Given the description of an element on the screen output the (x, y) to click on. 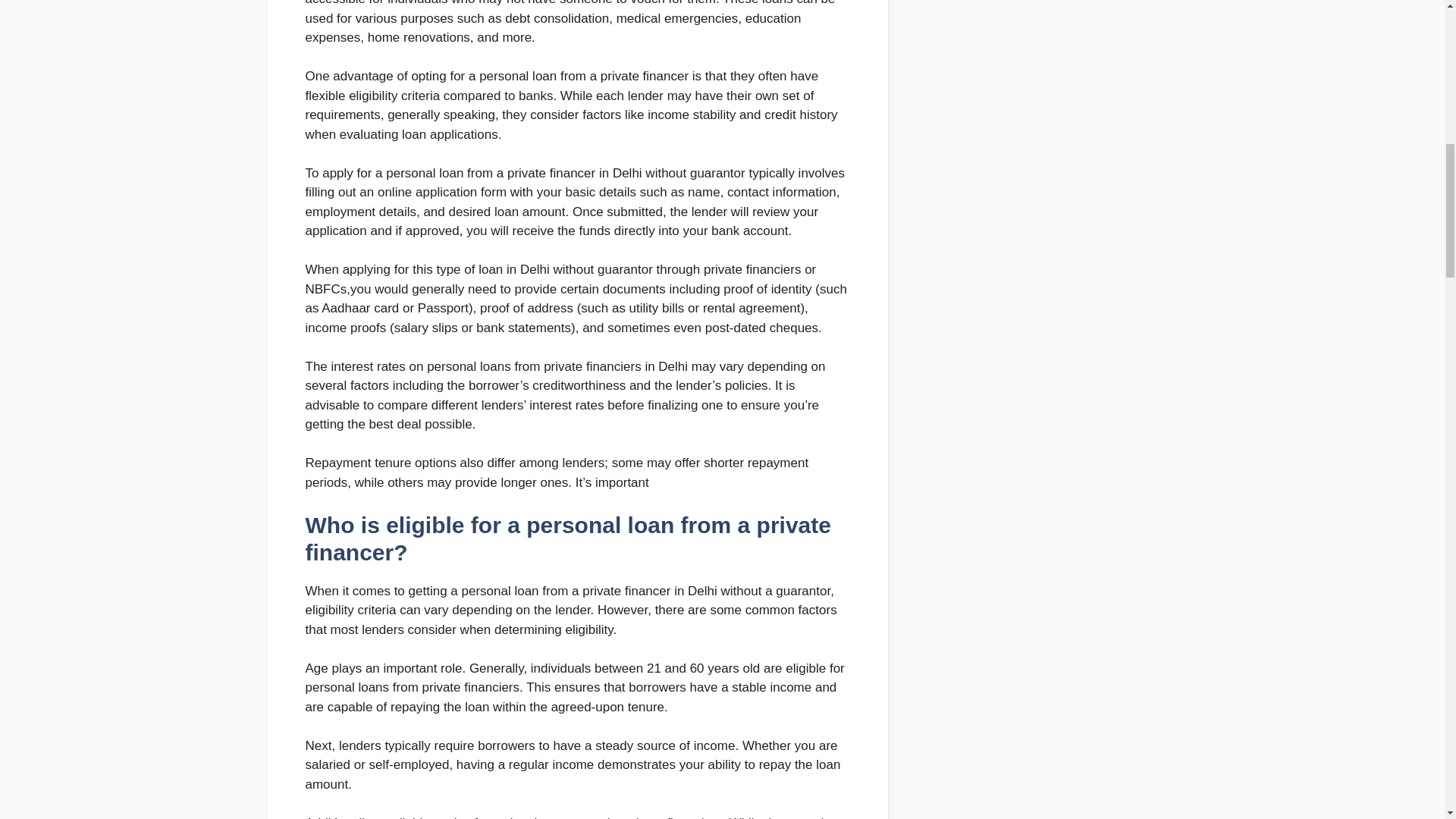
Scroll back to top (1406, 720)
